Given the description of an element on the screen output the (x, y) to click on. 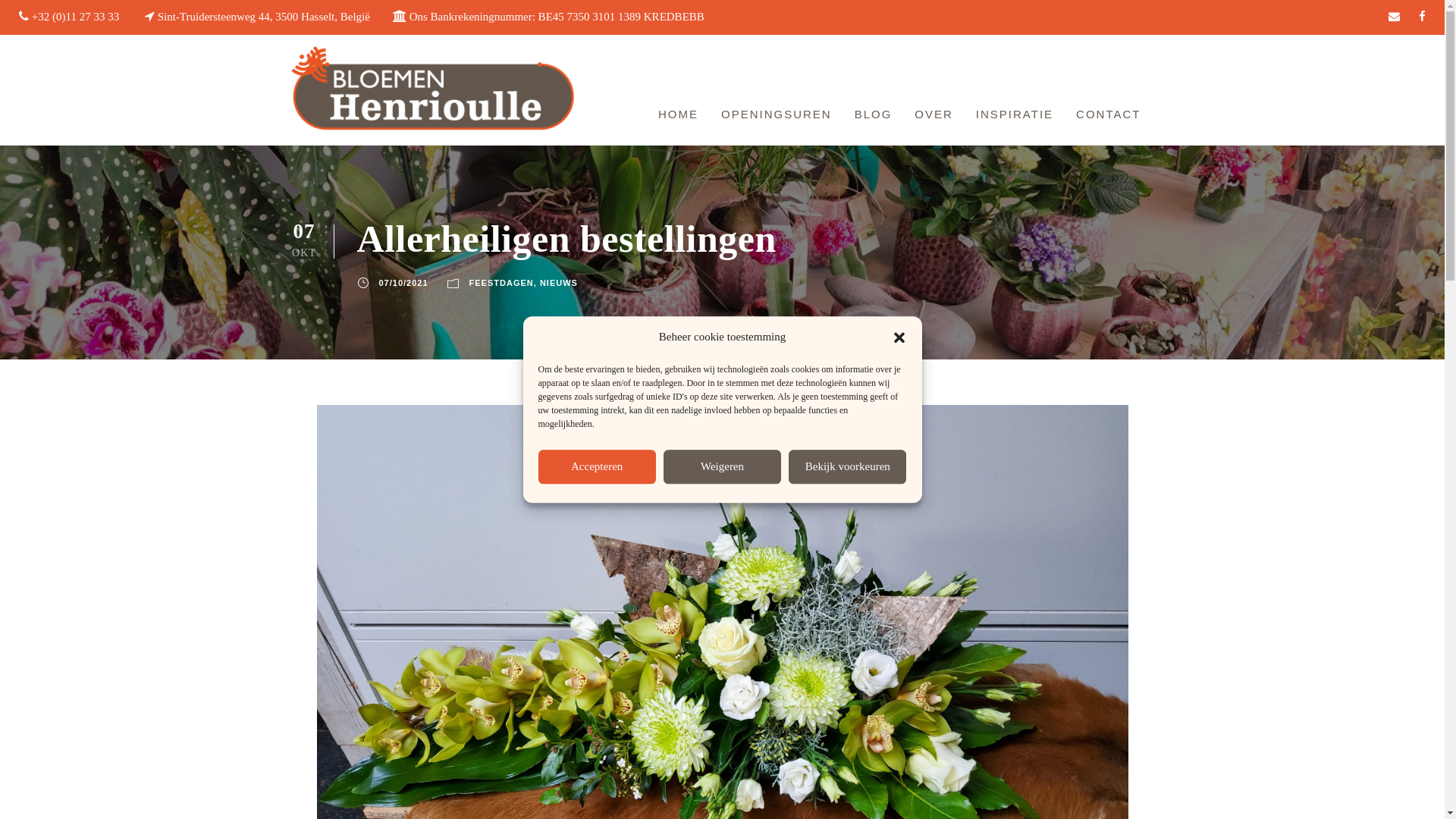
email Element type: hover (1393, 16)
BLOG Element type: text (873, 116)
HOME Element type: text (678, 116)
NIEUWS Element type: text (558, 282)
logo-henrioulle Element type: hover (431, 89)
07/10/2021 Element type: text (403, 282)
INSPIRATIE Element type: text (1014, 116)
Bekijk voorkeuren Element type: text (847, 466)
+32 (0)11 27 33 33 Element type: text (75, 16)
Accepteren Element type: text (596, 466)
Weigeren Element type: text (722, 466)
OVER Element type: text (933, 116)
CONTACT Element type: text (1108, 116)
FEESTDAGEN Element type: text (501, 282)
OPENINGSUREN Element type: text (776, 116)
facebook Element type: hover (1421, 16)
